Given the description of an element on the screen output the (x, y) to click on. 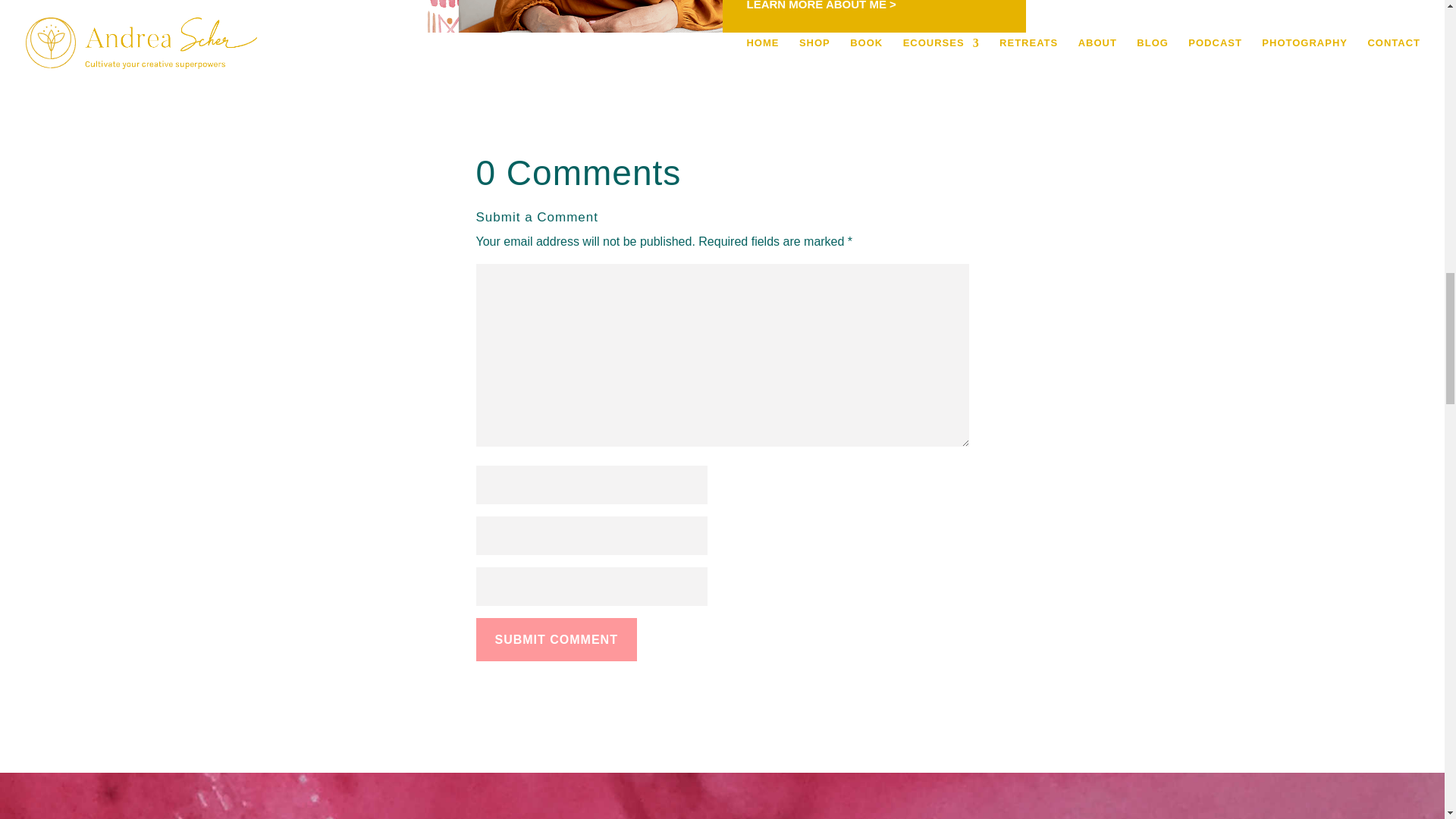
About (820, 5)
SUBMIT COMMENT (556, 639)
